Given the description of an element on the screen output the (x, y) to click on. 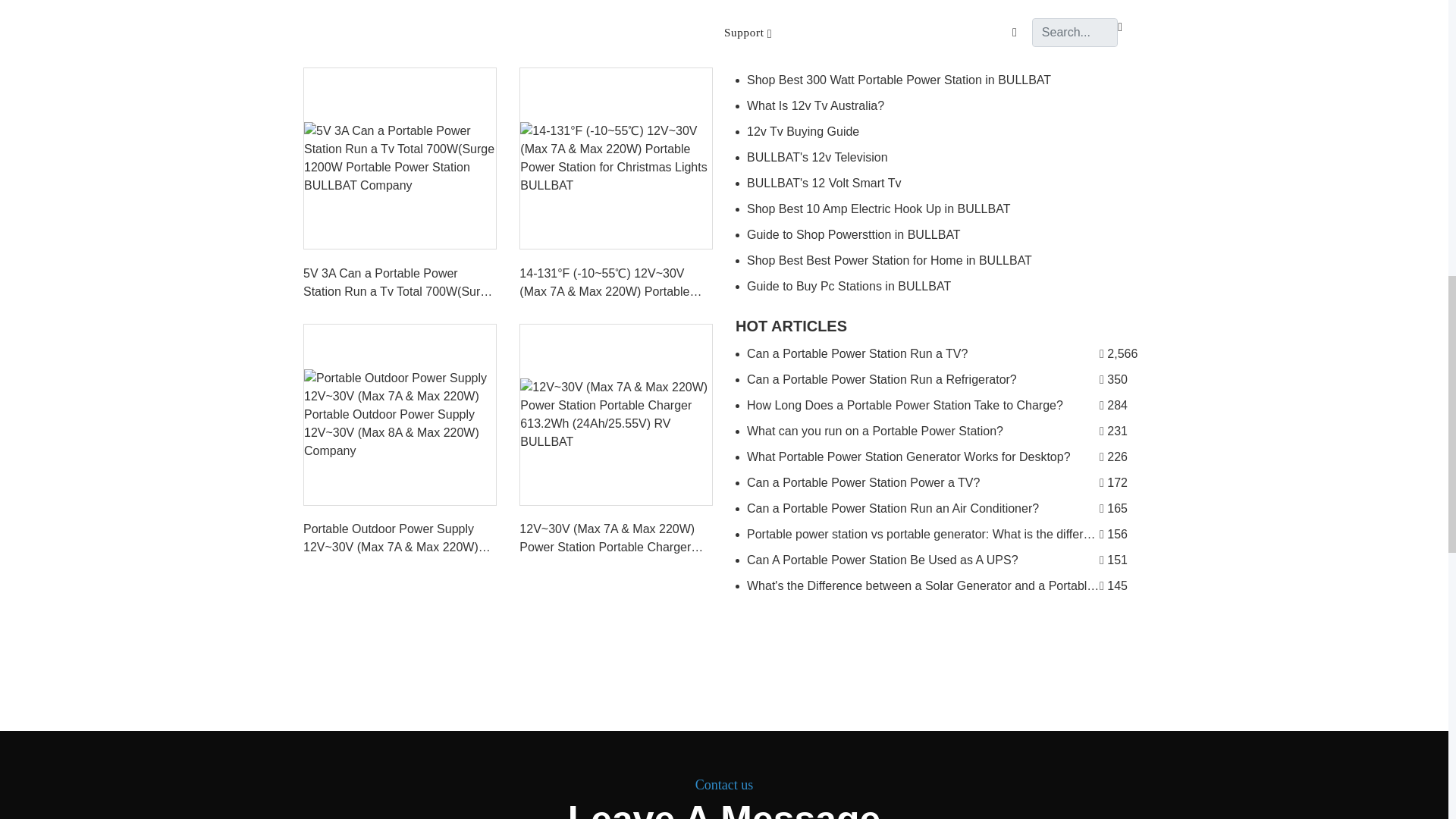
Can a Portable Power Station Run a TV? (939, 353)
How Long Does a Portable Power Station Take to Charge? (939, 405)
BULLBAT's 12v Television (939, 157)
Shop Best 300 Watt Portable Power Station in BULLBAT (939, 80)
What Is 12v Tv Australia? (939, 105)
What can you run on a Portable Power Station?  (939, 431)
BULLBAT's 12 Volt Smart Tv (939, 183)
BULLBAT's  3600wh (939, 54)
Guide to Shop Powersttion in BULLBAT (939, 234)
Shop Best Best Power Station for Home in BULLBAT (939, 260)
Can a Portable Power Station Run a Refrigerator? (939, 379)
Guide to Buy Pc Stations in BULLBAT (939, 286)
Can a Portable Power Station Power a TV? (939, 483)
Shop Best 10 Amp Electric Hook Up in BULLBAT (939, 208)
12v Tv Buying Guide (939, 131)
